Given the description of an element on the screen output the (x, y) to click on. 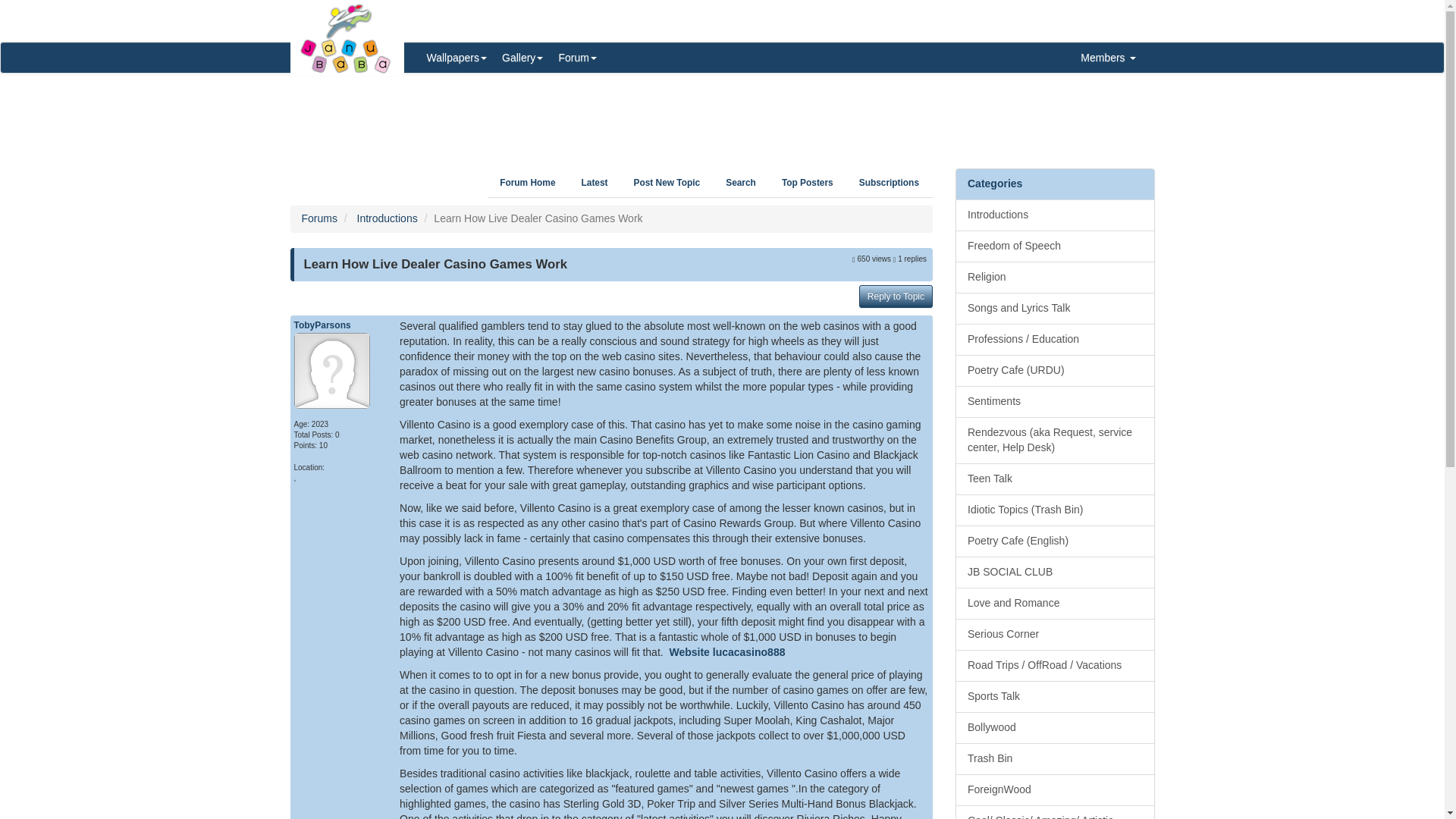
Forum (577, 57)
Advertisement (721, 115)
Gallery (522, 57)
Wallpapers (457, 57)
